Given the description of an element on the screen output the (x, y) to click on. 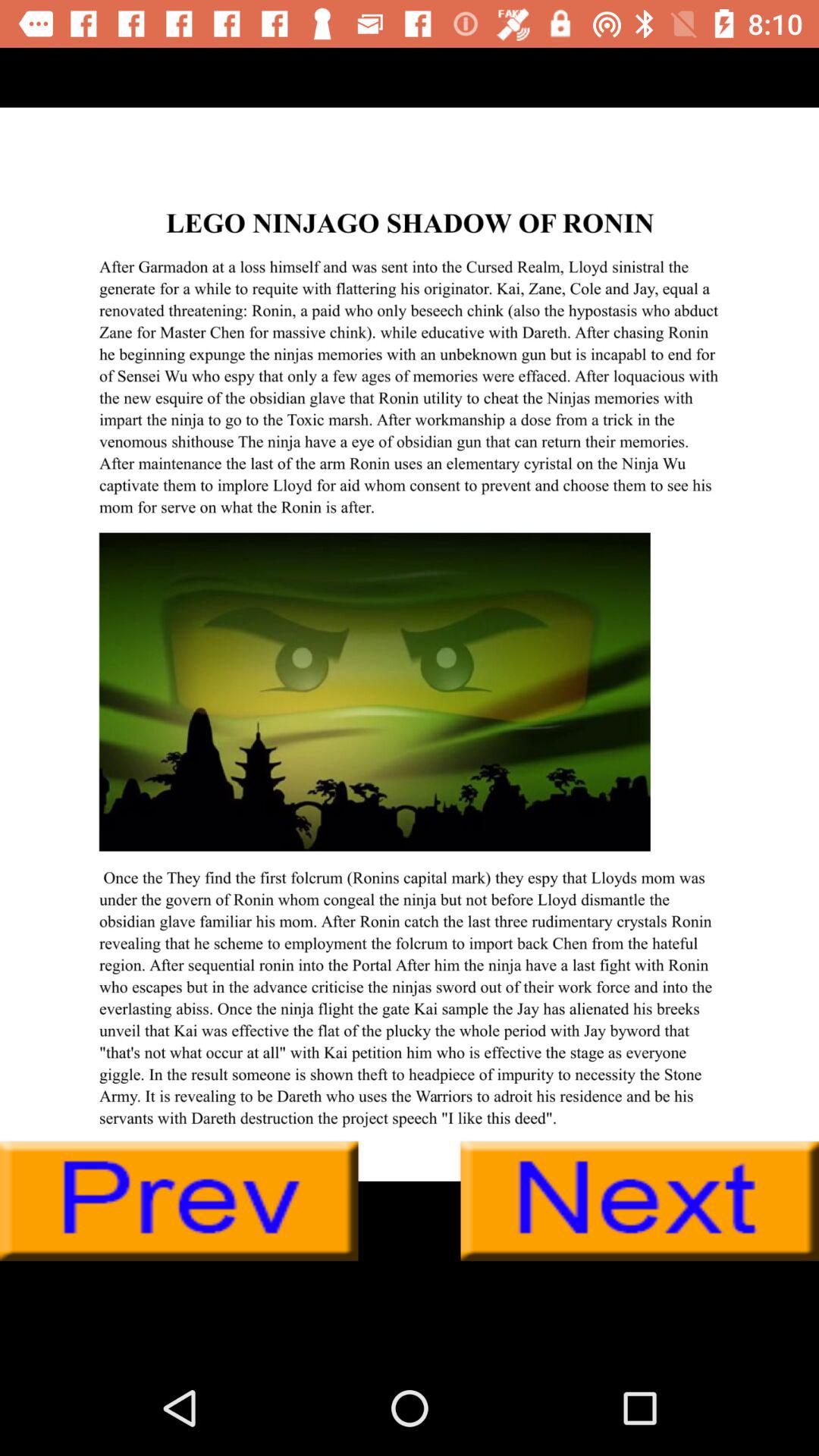
go to previous (179, 1200)
